Given the description of an element on the screen output the (x, y) to click on. 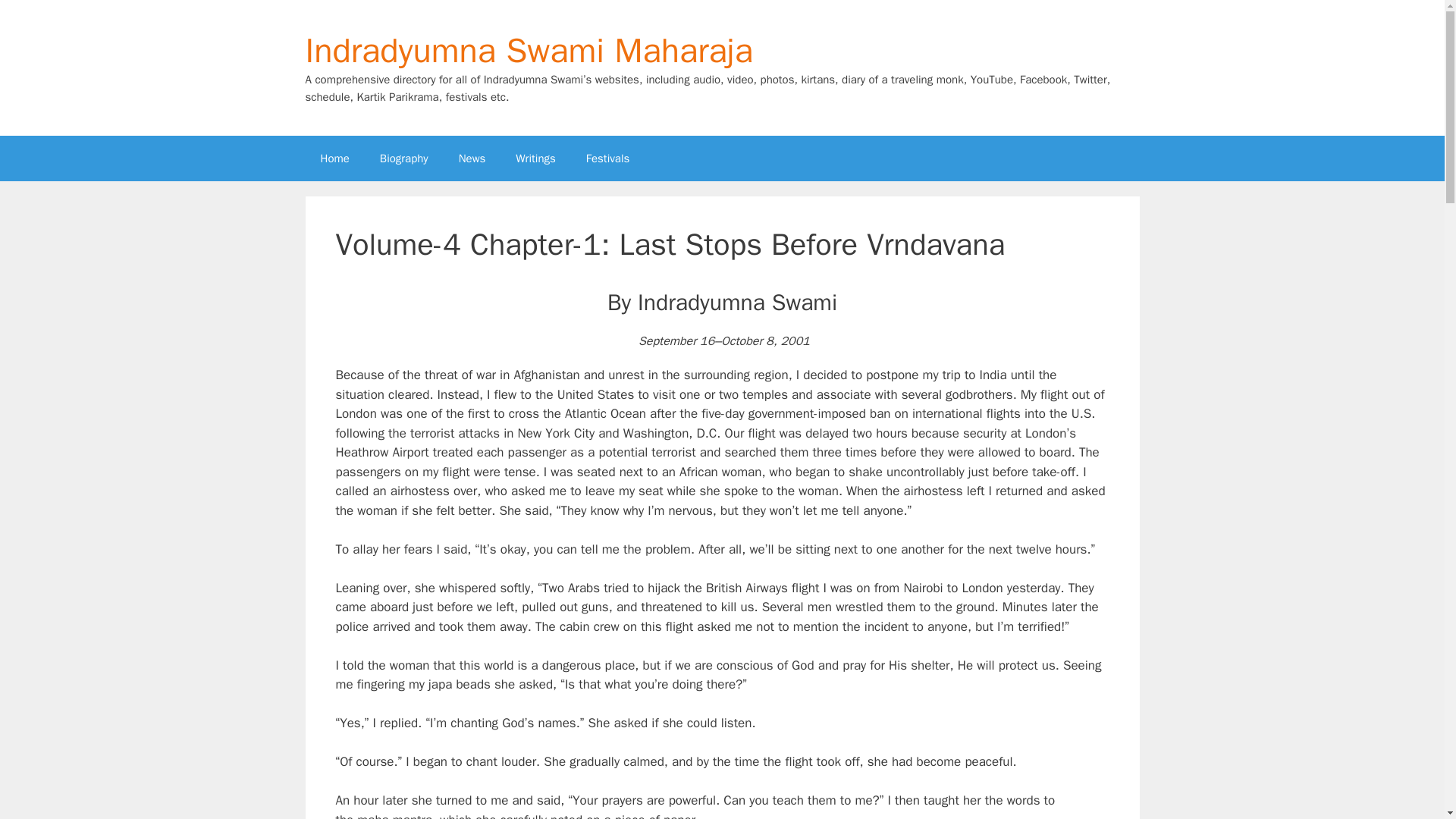
Home (334, 157)
Festivals (607, 157)
Indradyumna Swami Maharaja (528, 50)
Biography (404, 157)
Writings (535, 157)
News (472, 157)
